Given the description of an element on the screen output the (x, y) to click on. 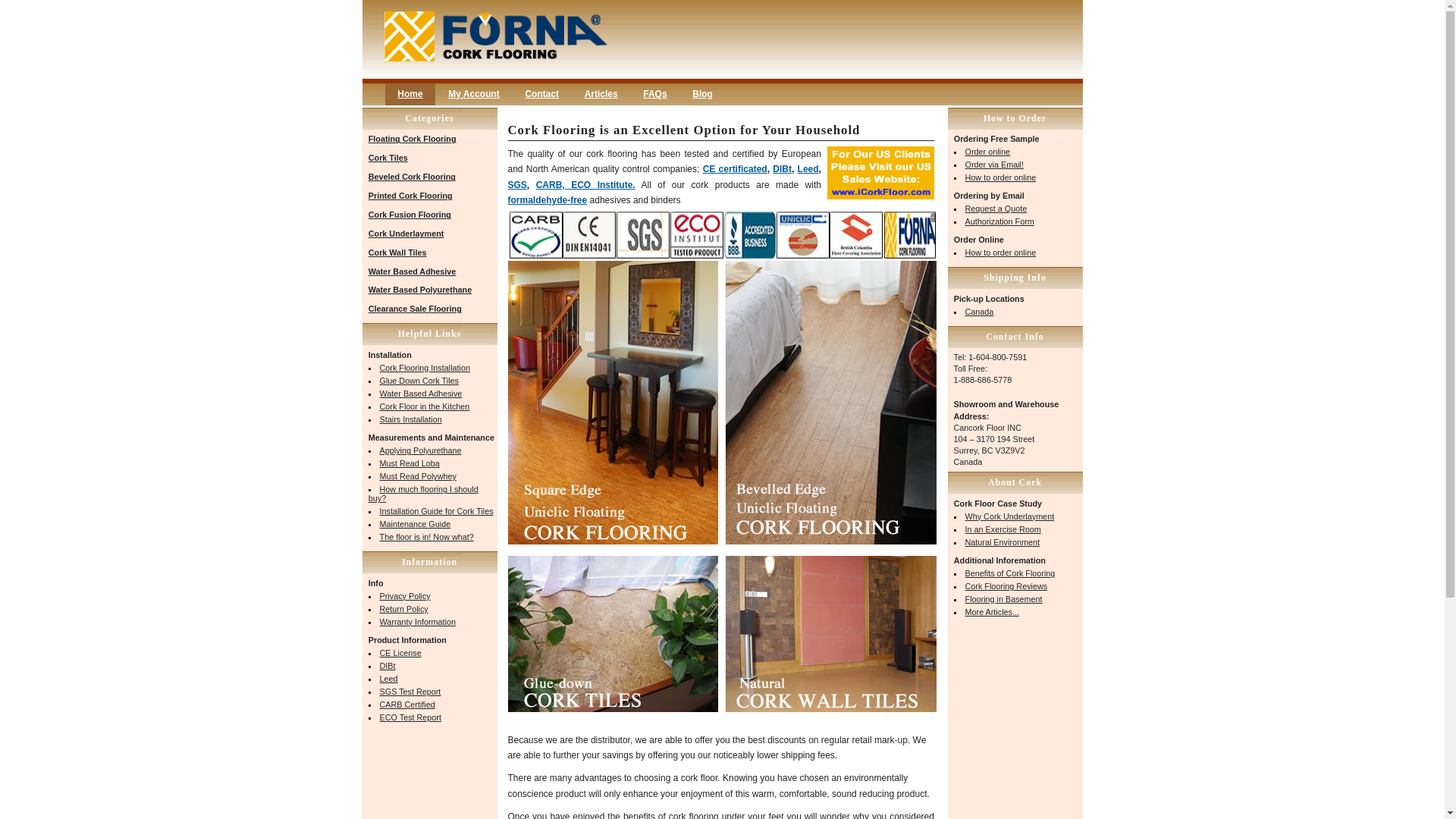
Cork Flooring Reviews (1006, 585)
Benefits of Cork Flooring (1010, 573)
Cork Underlayment (406, 233)
Contact (542, 94)
DIBT certification (782, 168)
Why Cork Underlayment (1009, 515)
CE Certificated (735, 168)
Leed Certification (807, 168)
In an Exercise Room (1003, 528)
Water Based Polyurethane (419, 289)
